Given the description of an element on the screen output the (x, y) to click on. 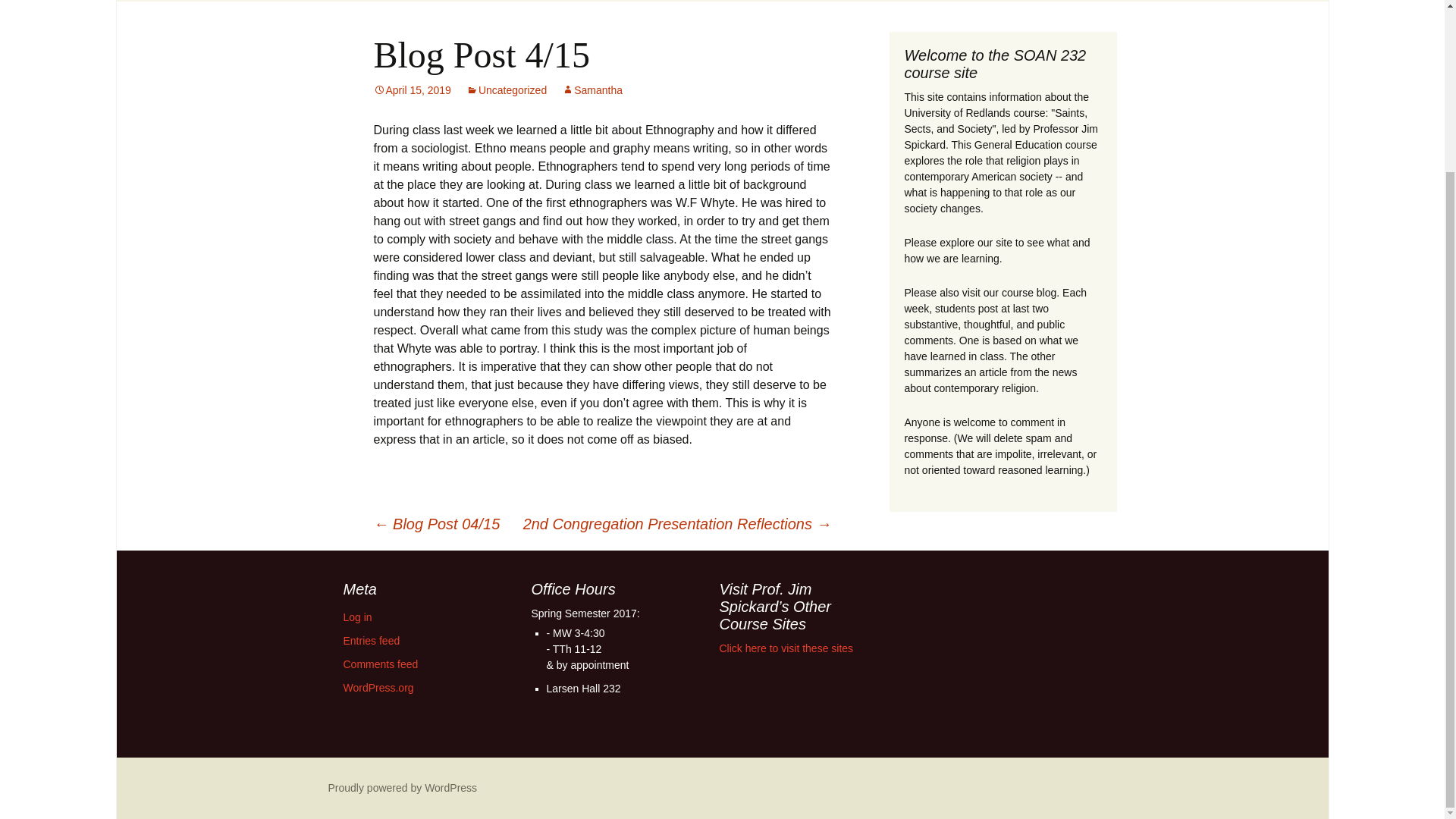
Click here to visit these sites (786, 648)
Minor Writing (609, 18)
April 15, 2019 (410, 90)
Uncategorized (506, 90)
Schedule (491, 0)
Books (452, 18)
Samantha (592, 90)
WordPress.org (377, 687)
Expectations (818, 0)
How I Grade Course Participation (945, 23)
Home (342, 0)
Entries feed (370, 640)
Log in (356, 616)
Grades (903, 0)
Assignments (581, 0)
